Given the description of an element on the screen output the (x, y) to click on. 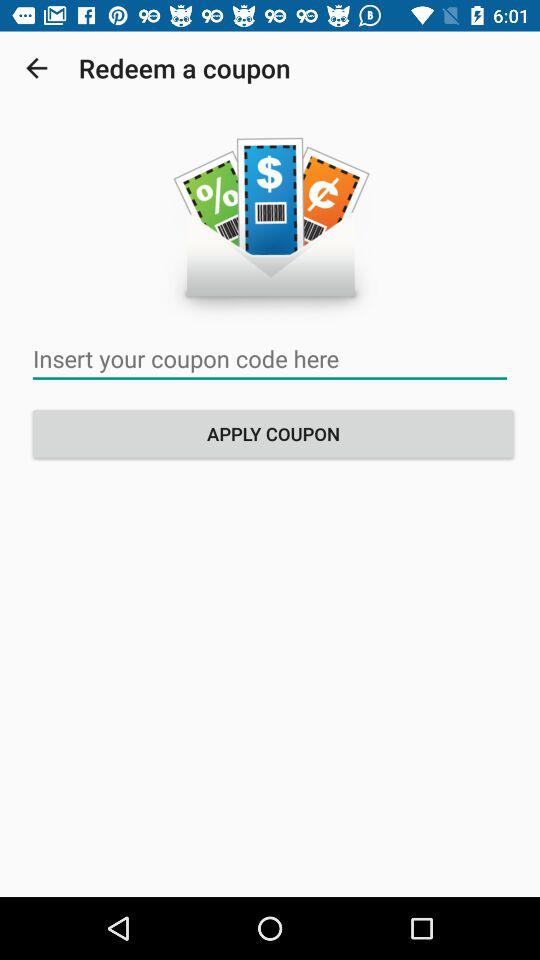
launch the item above apply coupon item (269, 358)
